Given the description of an element on the screen output the (x, y) to click on. 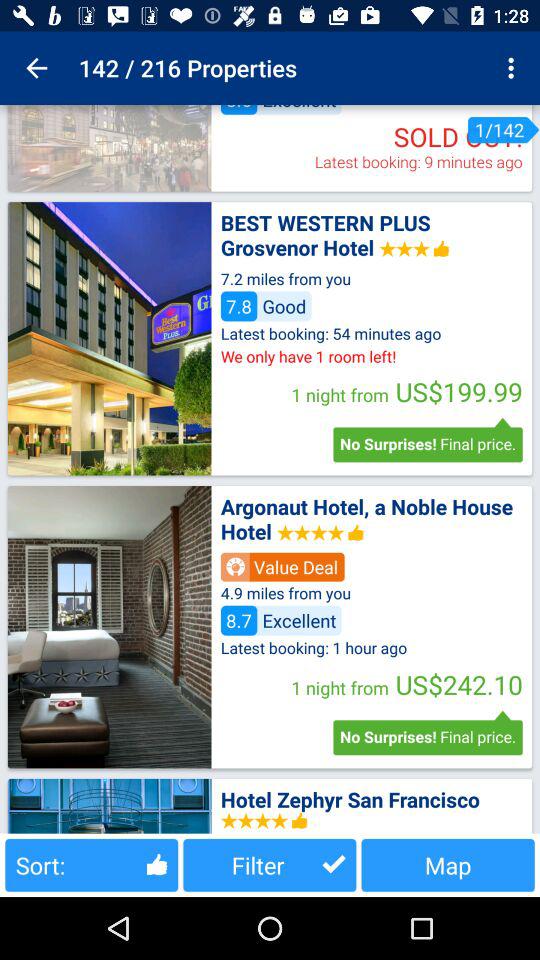
location photo (109, 627)
